Given the description of an element on the screen output the (x, y) to click on. 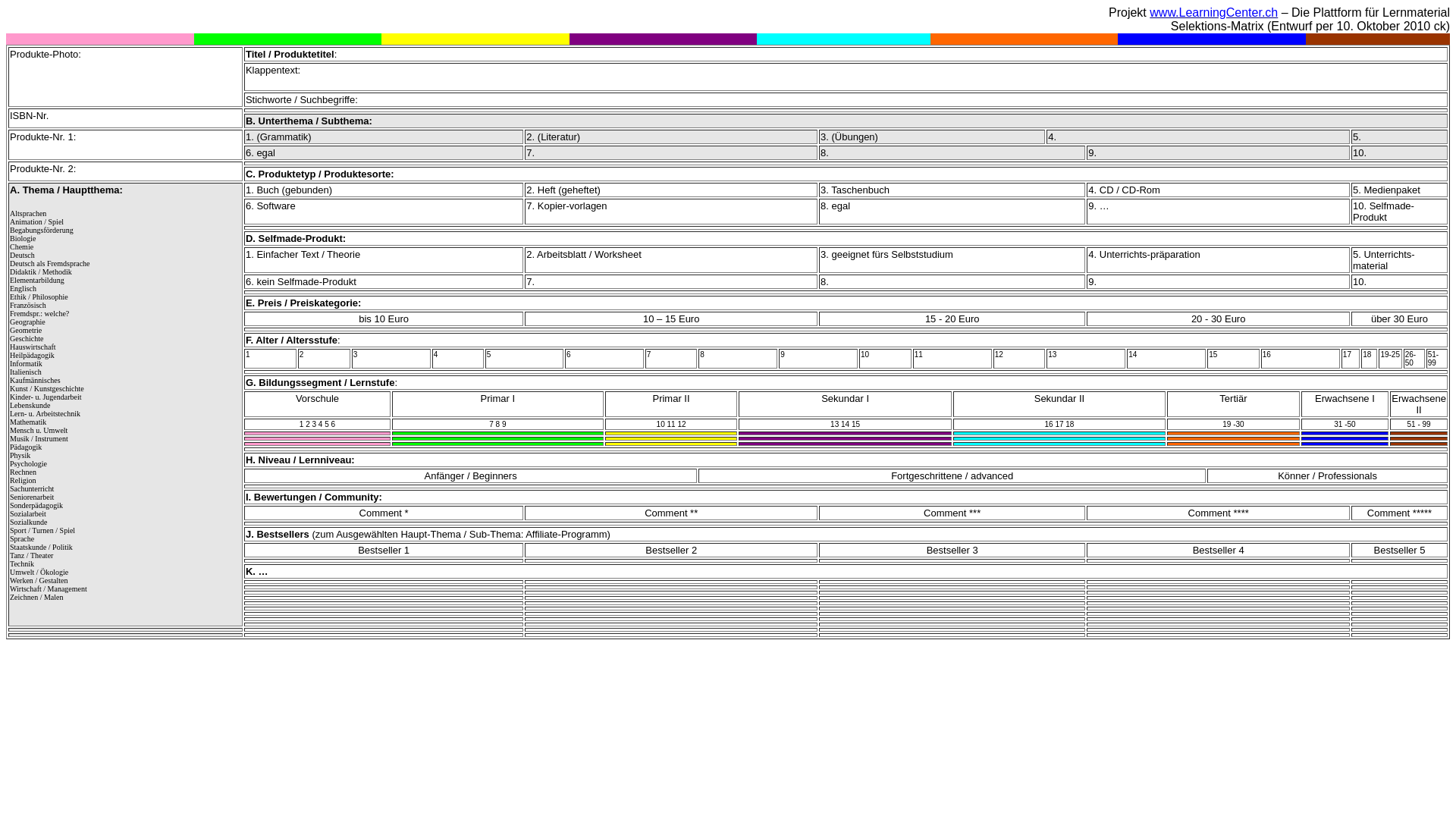
www.LearningCenter.ch Element type: text (1213, 12)
